Given the description of an element on the screen output the (x, y) to click on. 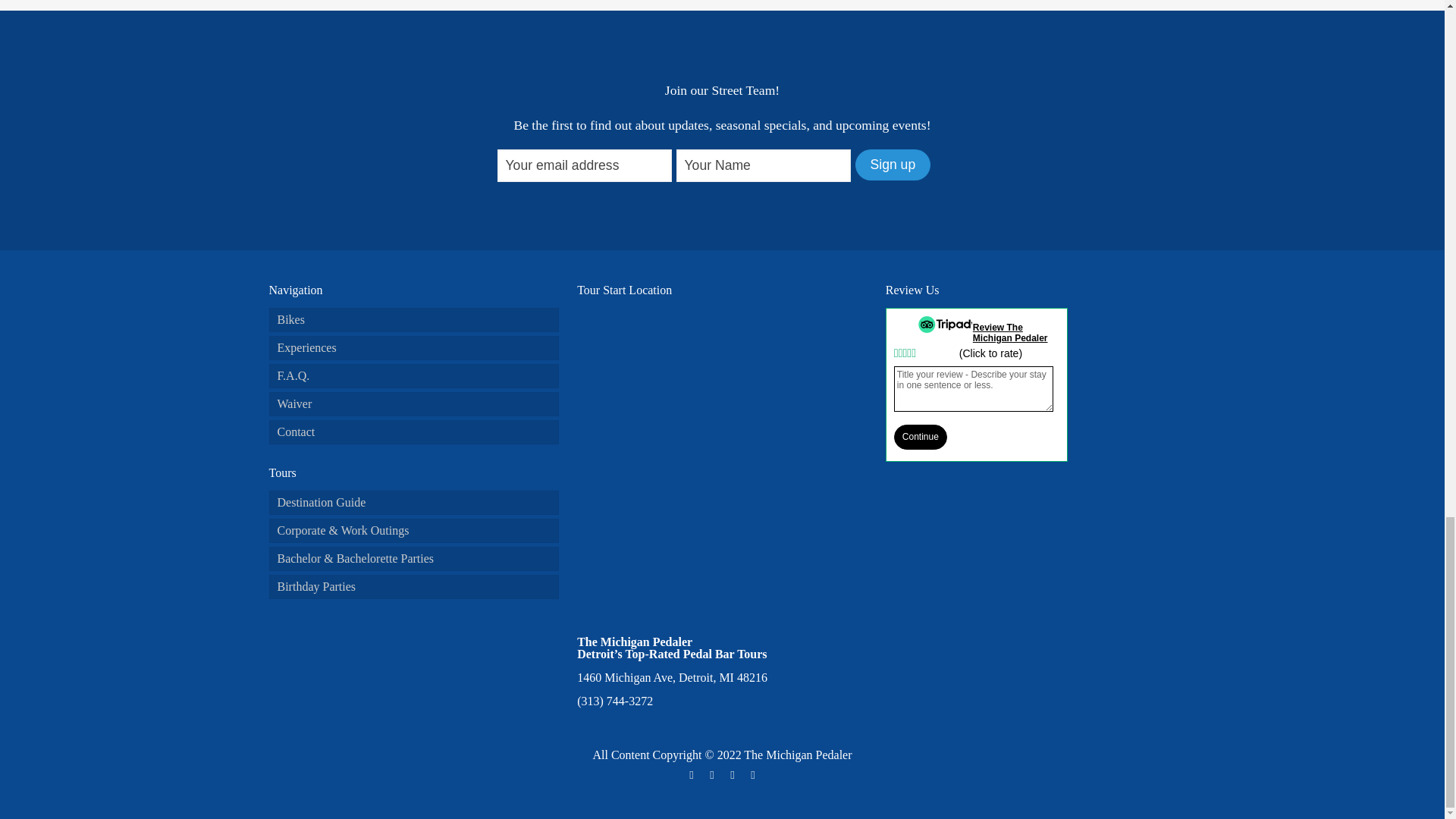
Tripadvisor (733, 775)
Instagram (711, 775)
Continue (920, 437)
Facebook (692, 775)
Sign up (893, 164)
